Given the description of an element on the screen output the (x, y) to click on. 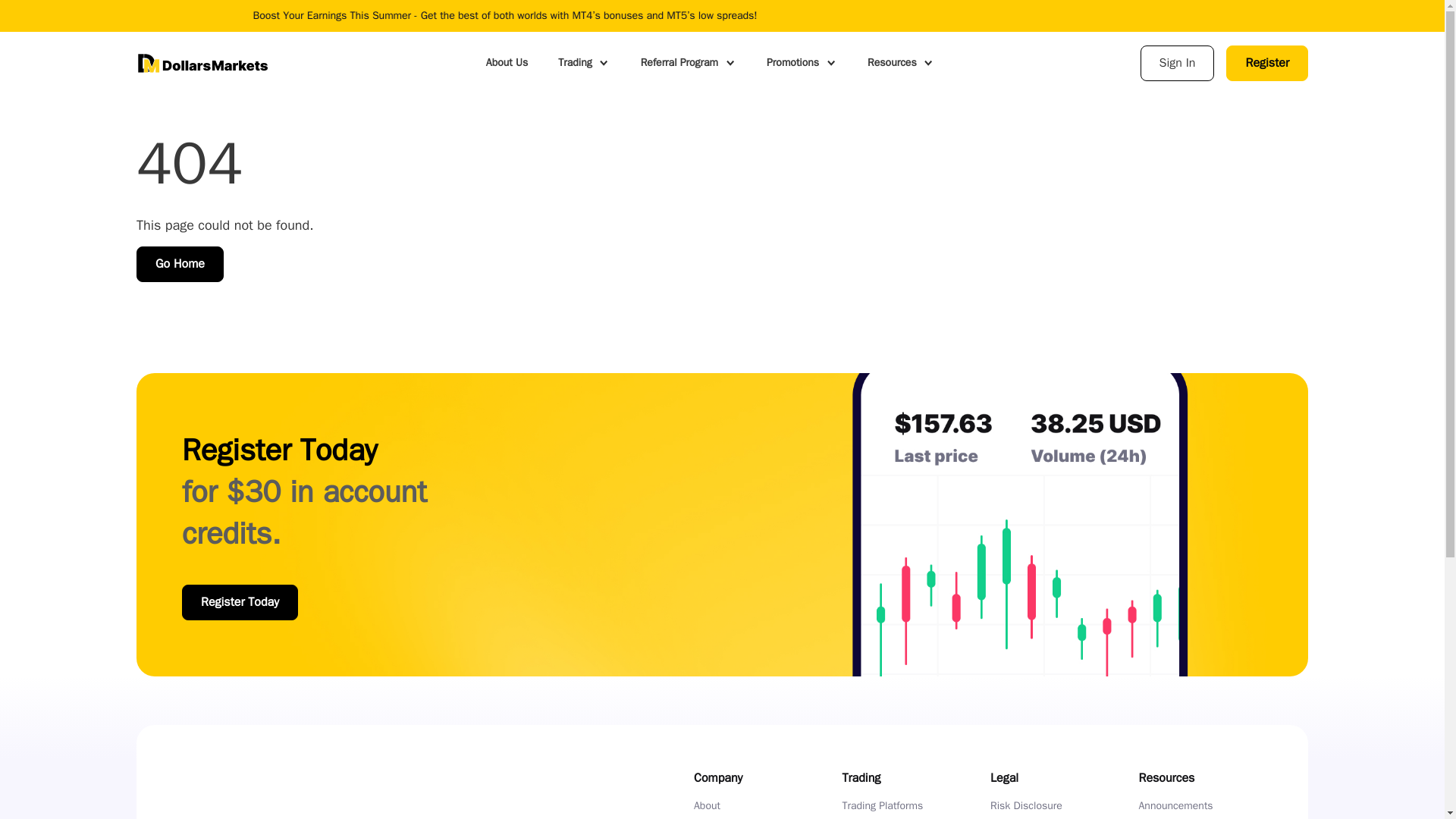
About Us (506, 62)
Register (1266, 63)
Sign In (1177, 63)
Trading Platforms (882, 806)
About (707, 806)
Go Home (180, 263)
Announcements (1175, 806)
Risk Disclosure (1026, 806)
Register Today (240, 601)
